Given the description of an element on the screen output the (x, y) to click on. 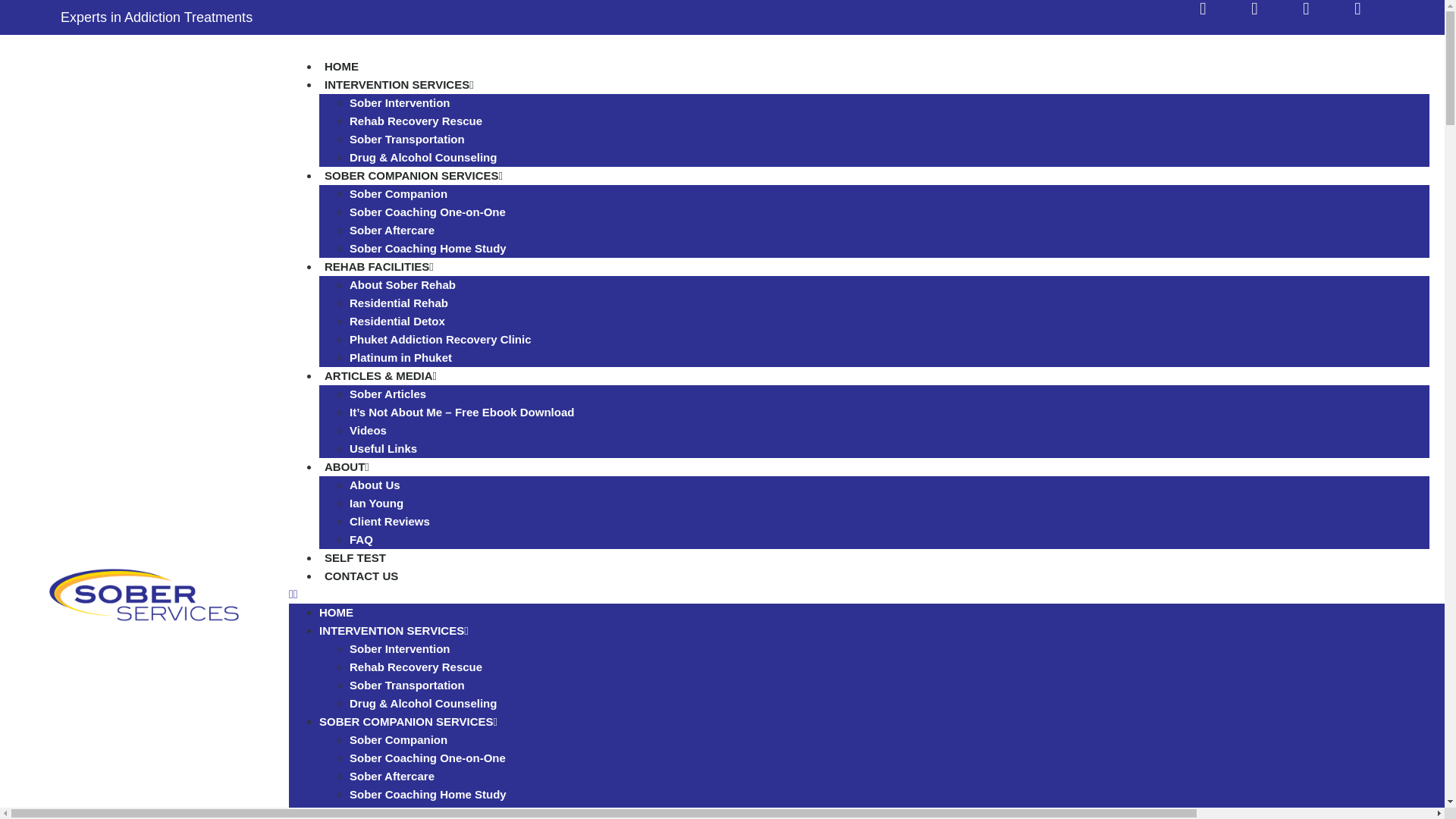
Residential Rehab (398, 302)
FAQ (360, 539)
INTERVENTION SERVICES (393, 630)
Sober Articles (387, 393)
Platinum in Phuket (400, 357)
Sober Intervention (399, 102)
Sober Coaching One-on-One (427, 211)
Sober Companion (397, 193)
Videos (368, 430)
REHAB FACILITIES (378, 266)
